Given the description of an element on the screen output the (x, y) to click on. 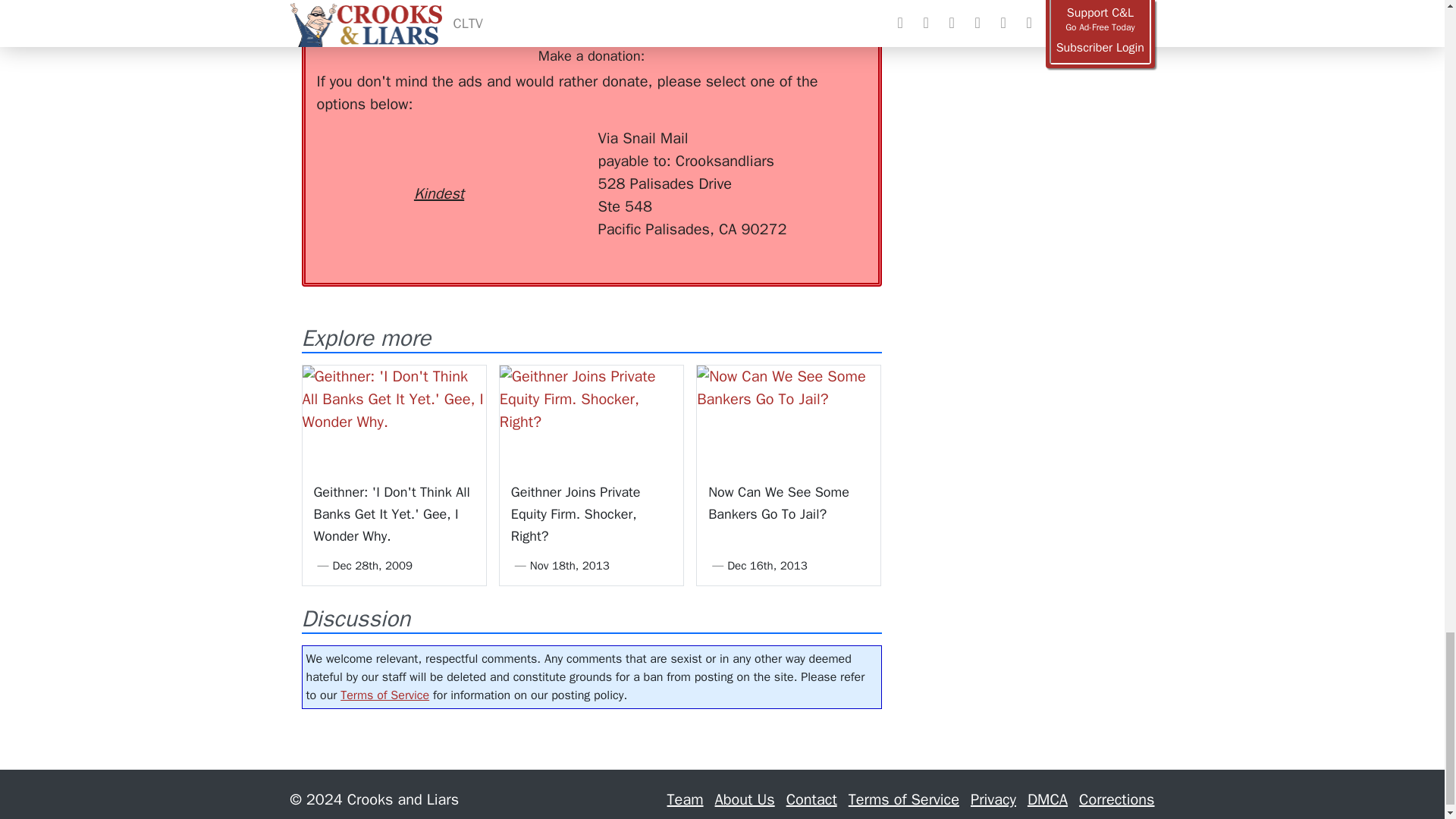
Donate via Kindest (438, 166)
Donate via PayPal (540, 154)
